Given the description of an element on the screen output the (x, y) to click on. 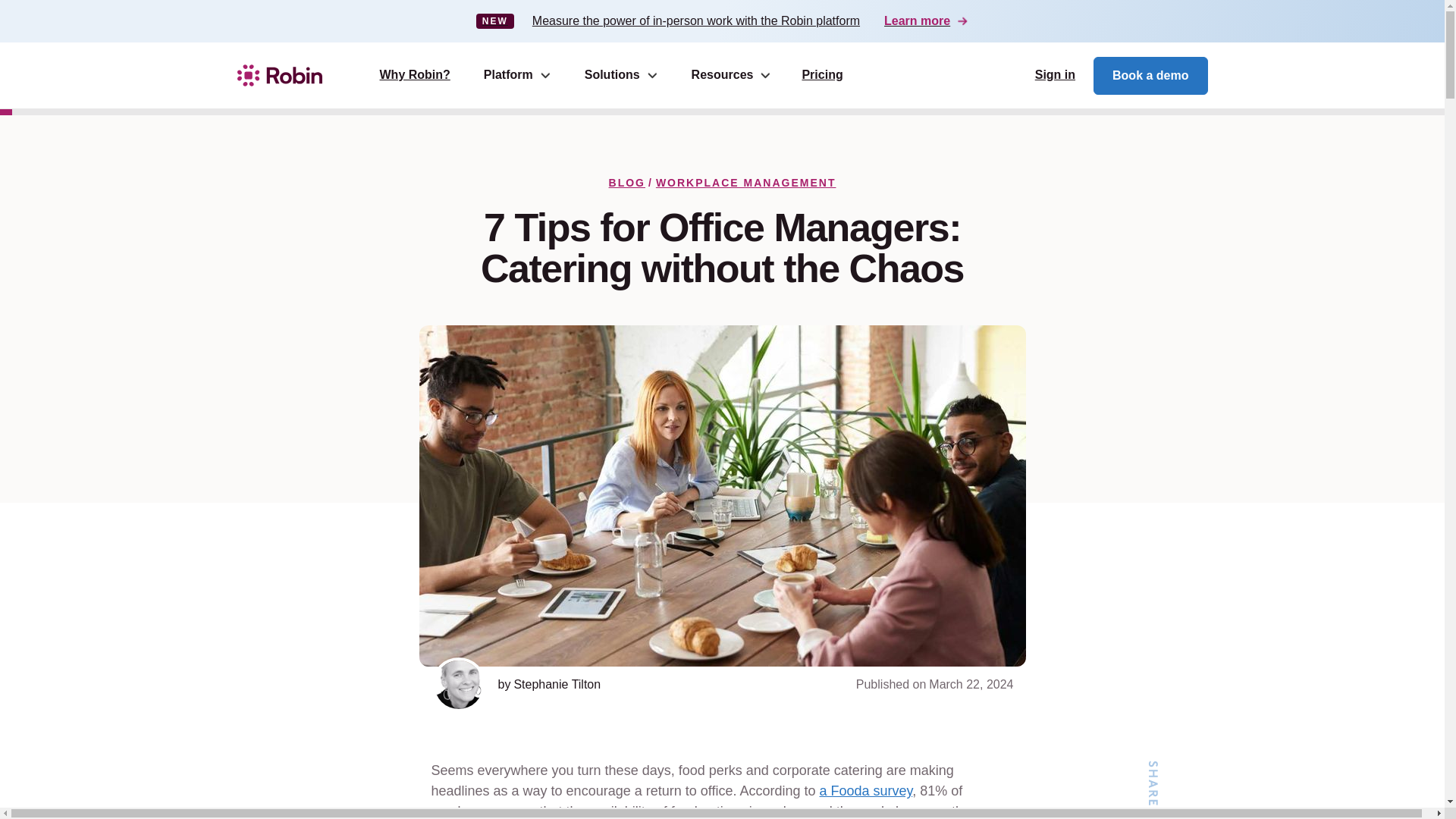
Why Robin? (413, 75)
